Given the description of an element on the screen output the (x, y) to click on. 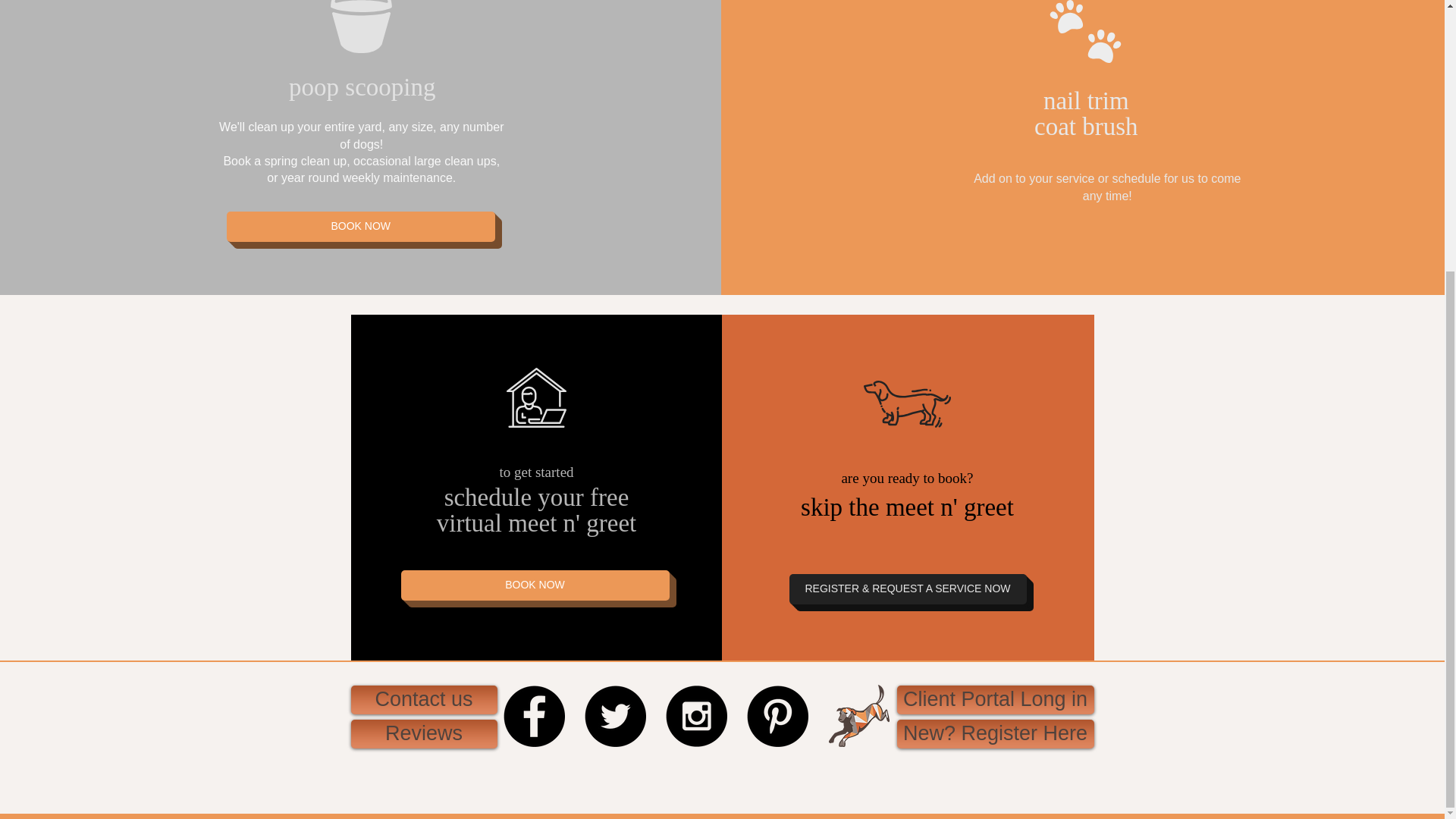
BOOK NOW (361, 226)
BOOK NOW (534, 585)
Reviews (423, 733)
Contact us (423, 699)
New? Register Here (994, 733)
Pet Sitter Plus Affiliate Link (721, 781)
Client Portal Long in (994, 699)
